Given the description of an element on the screen output the (x, y) to click on. 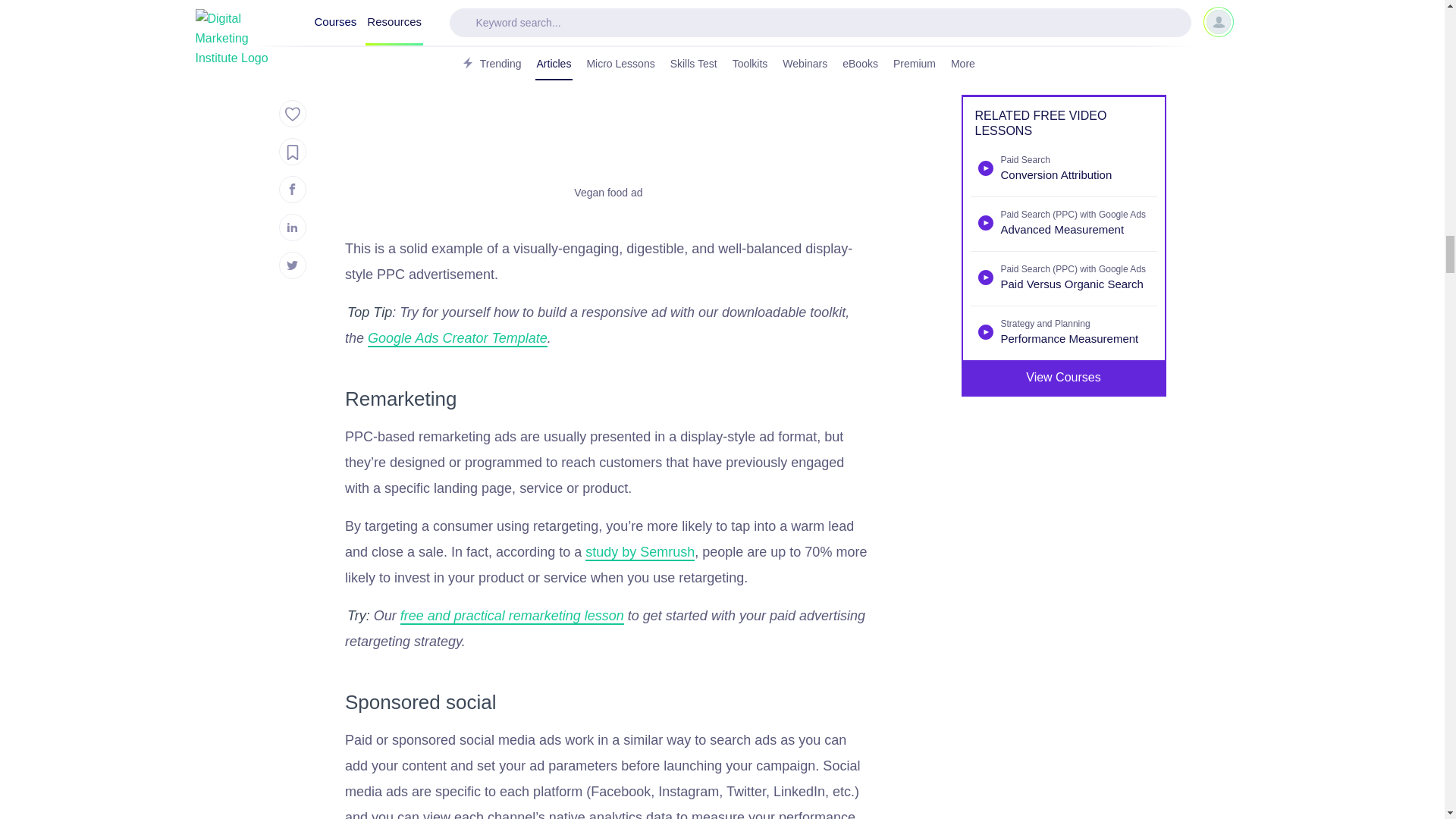
Google Ads Creator Template (457, 338)
study by Semrush (639, 552)
free and practical remarketing lesson (512, 616)
